Given the description of an element on the screen output the (x, y) to click on. 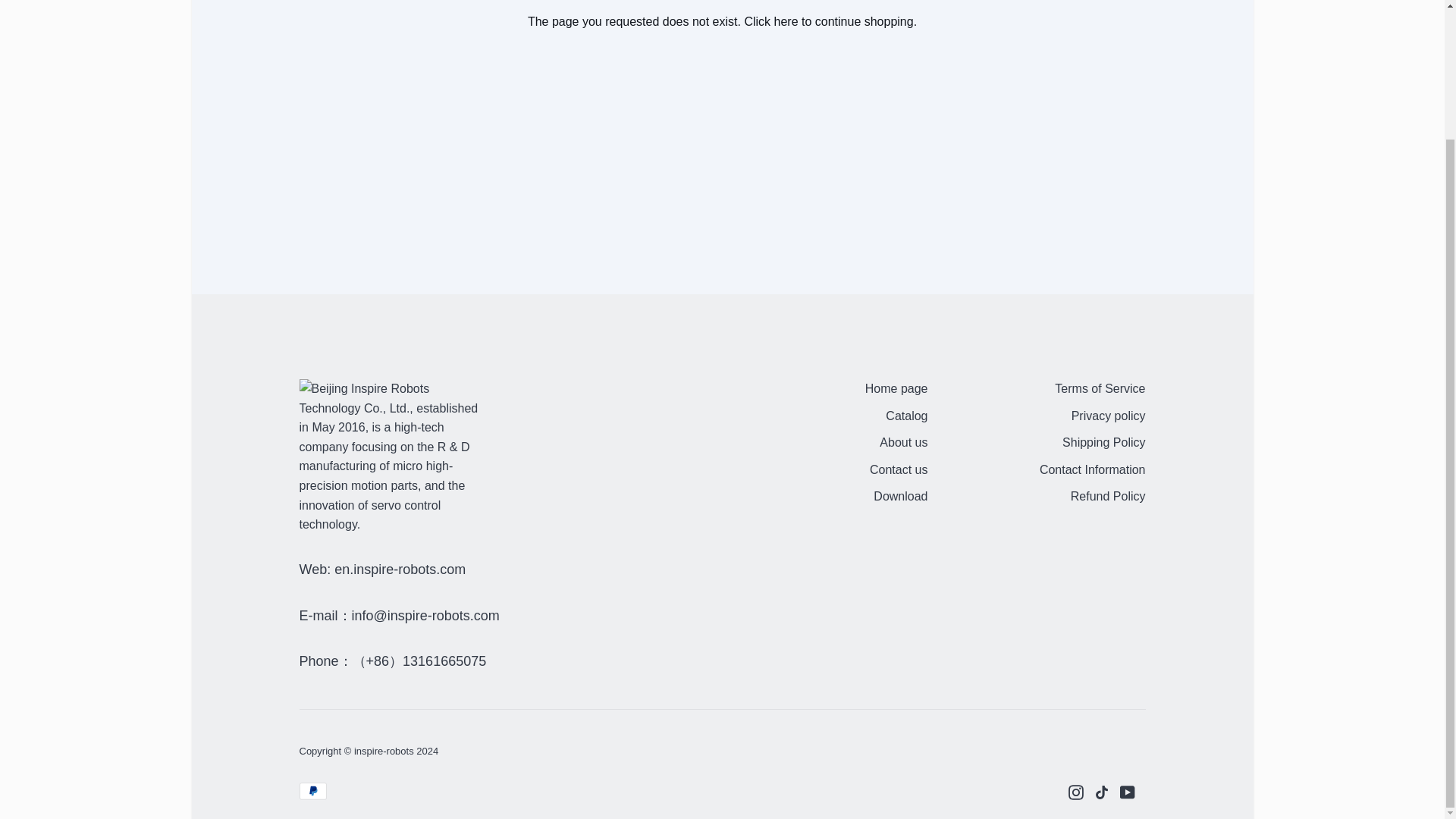
Catalog (906, 417)
Home page (896, 390)
Contact us (898, 471)
here (785, 21)
Download (900, 497)
About us (903, 443)
